Given the description of an element on the screen output the (x, y) to click on. 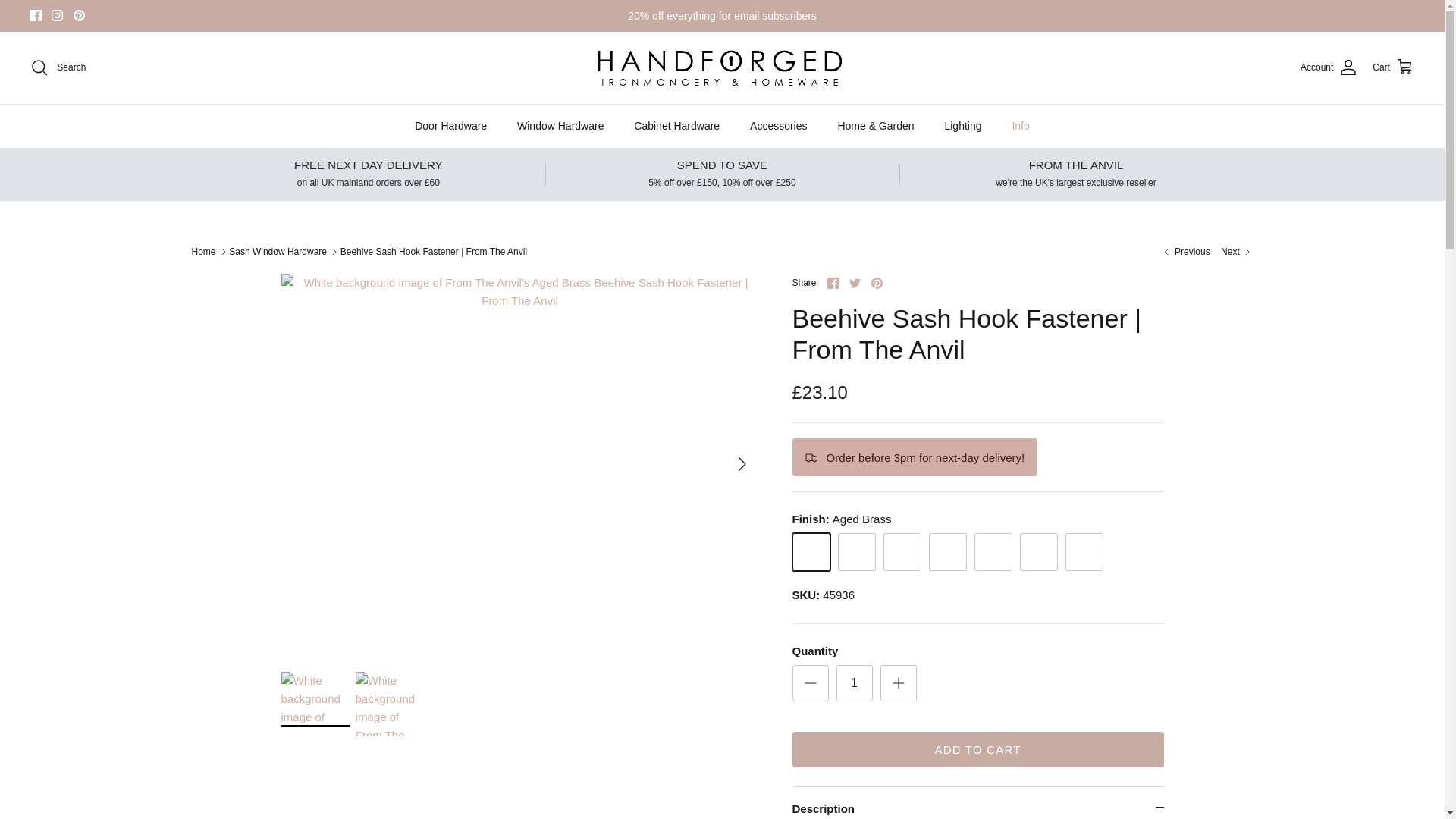
Search (57, 67)
RIGHT (741, 463)
Minus (809, 683)
Facebook (832, 283)
Plus (897, 683)
1 (853, 683)
Window Hardware (560, 126)
Pinterest (79, 15)
Instagram (56, 15)
Pinterest (79, 15)
